Given the description of an element on the screen output the (x, y) to click on. 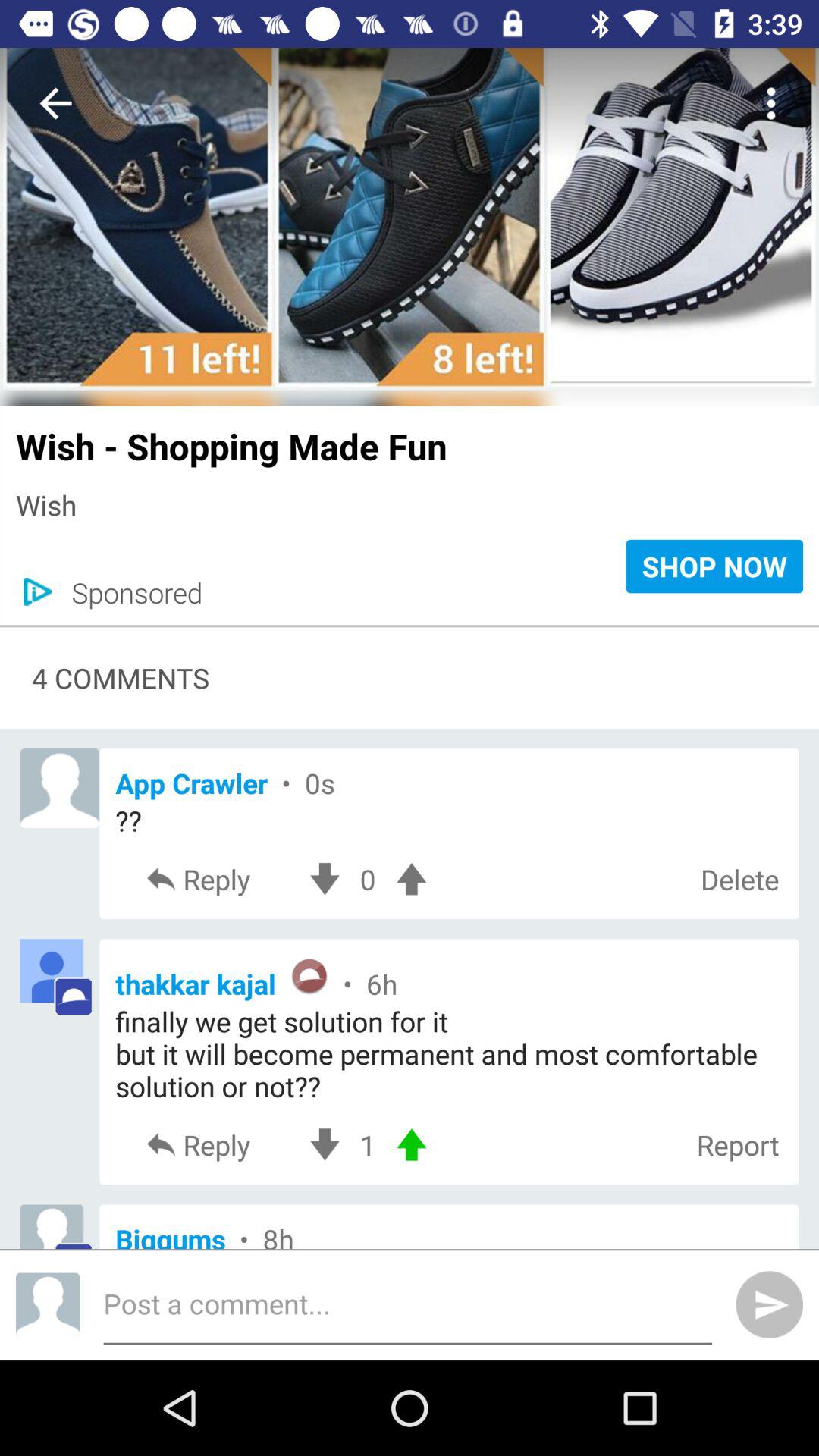
choose the item to the left of the shop now item (128, 592)
